Given the description of an element on the screen output the (x, y) to click on. 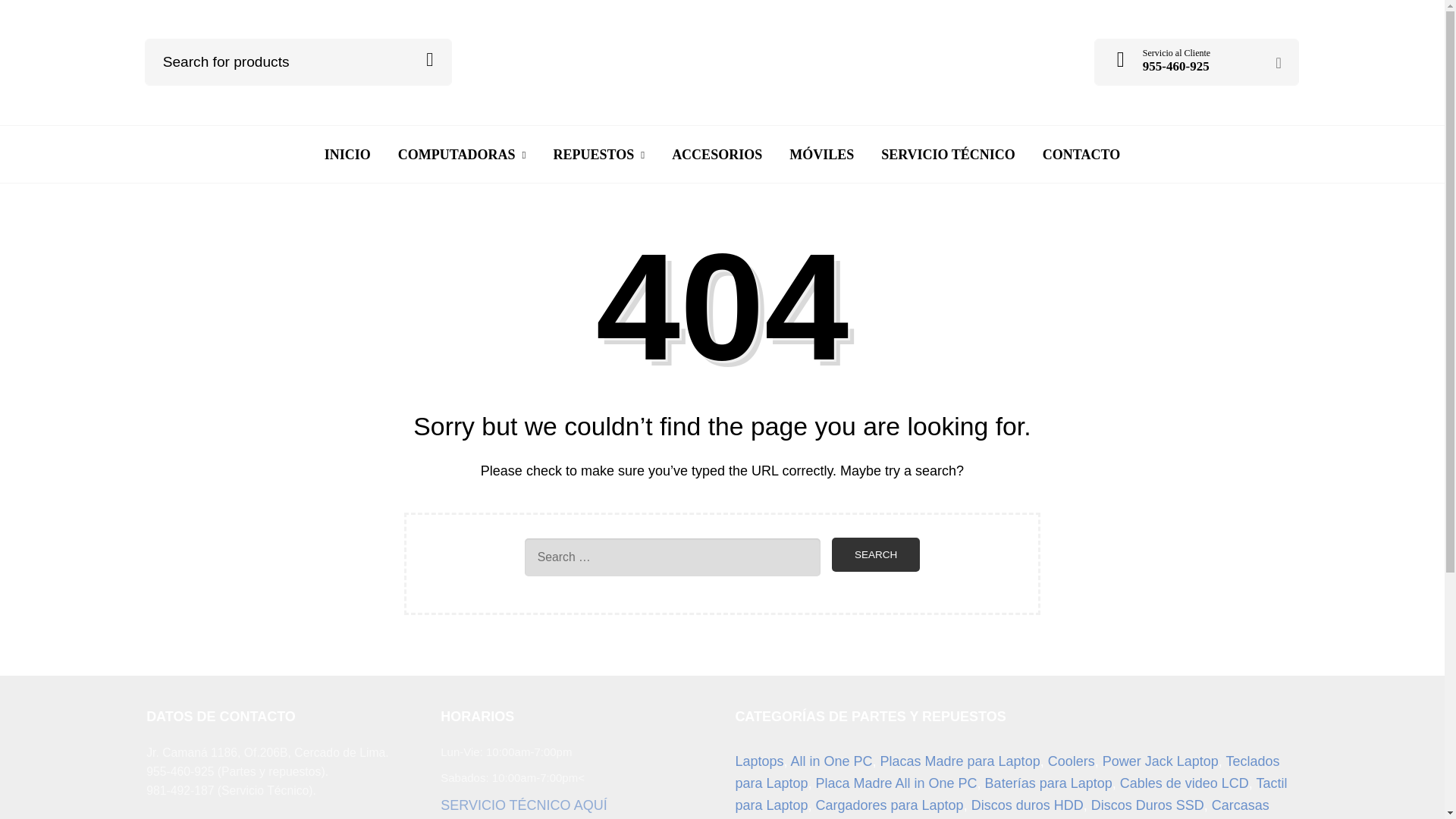
CONTACTO (1081, 155)
Cables de video LCD (1184, 783)
Coolers (1071, 761)
Search (875, 554)
ACCESORIOS (717, 155)
All in One PC (831, 761)
Power Jack Laptop (1160, 761)
INICIO (347, 155)
Search (429, 59)
COMPUTADORAS (462, 155)
REPUESTOS (598, 155)
Teclados para Laptop (1007, 772)
Laptops (759, 761)
Placas Madre para Laptop (960, 761)
Search (875, 554)
